Given the description of an element on the screen output the (x, y) to click on. 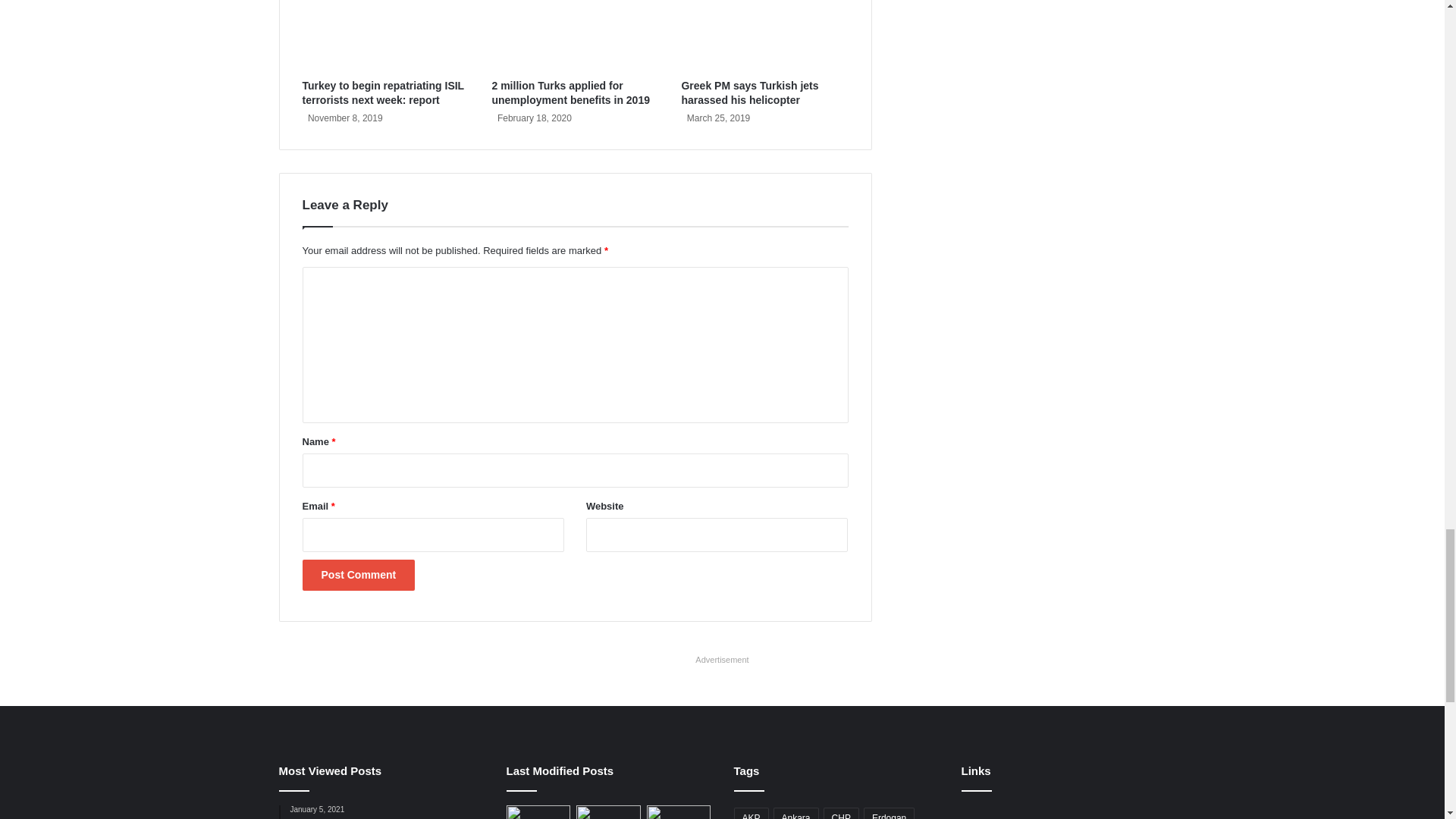
Post Comment (357, 574)
